Given the description of an element on the screen output the (x, y) to click on. 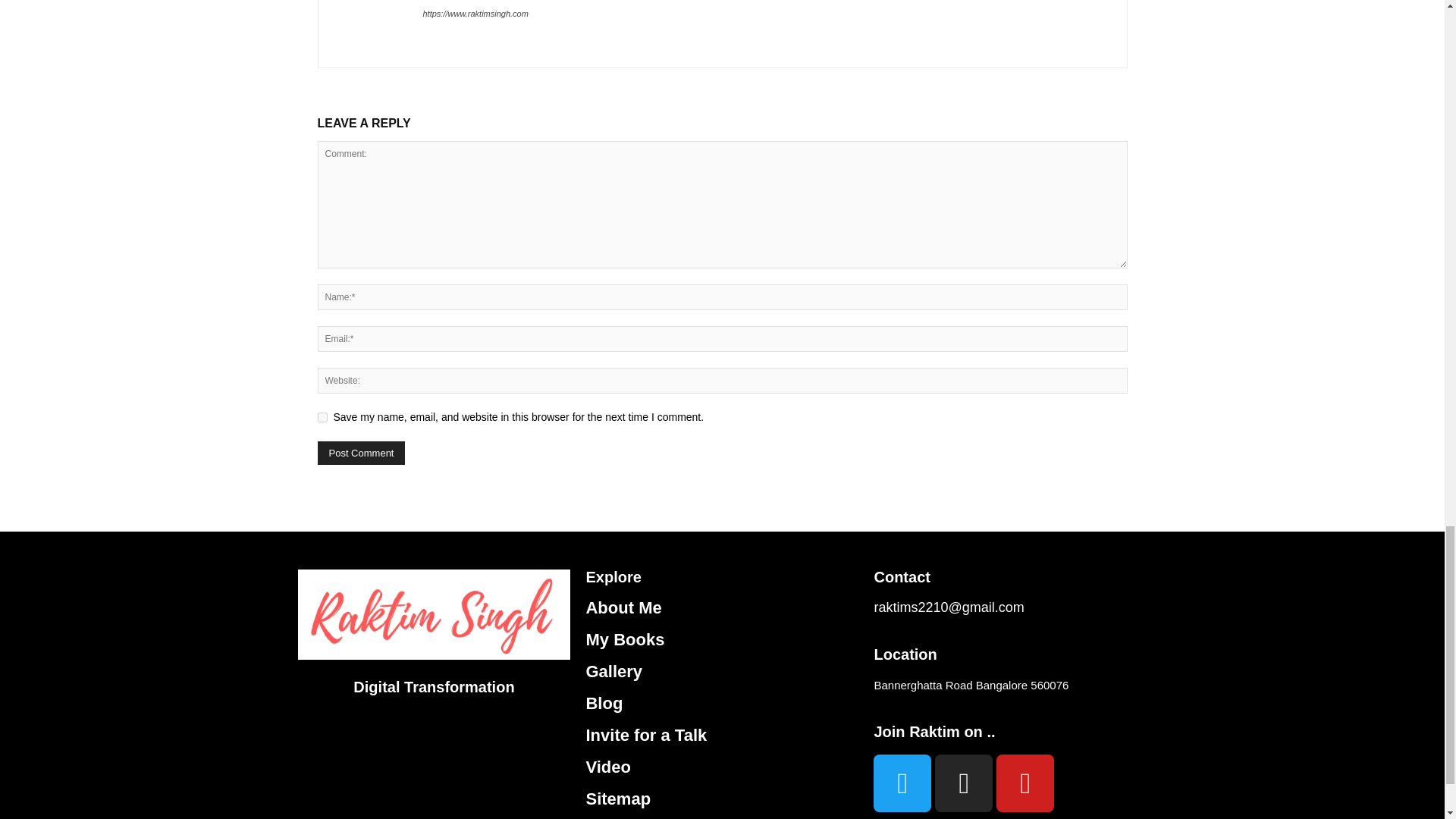
Post Comment (360, 453)
Post Comment (360, 453)
Explore (612, 576)
yes (321, 417)
